Given the description of an element on the screen output the (x, y) to click on. 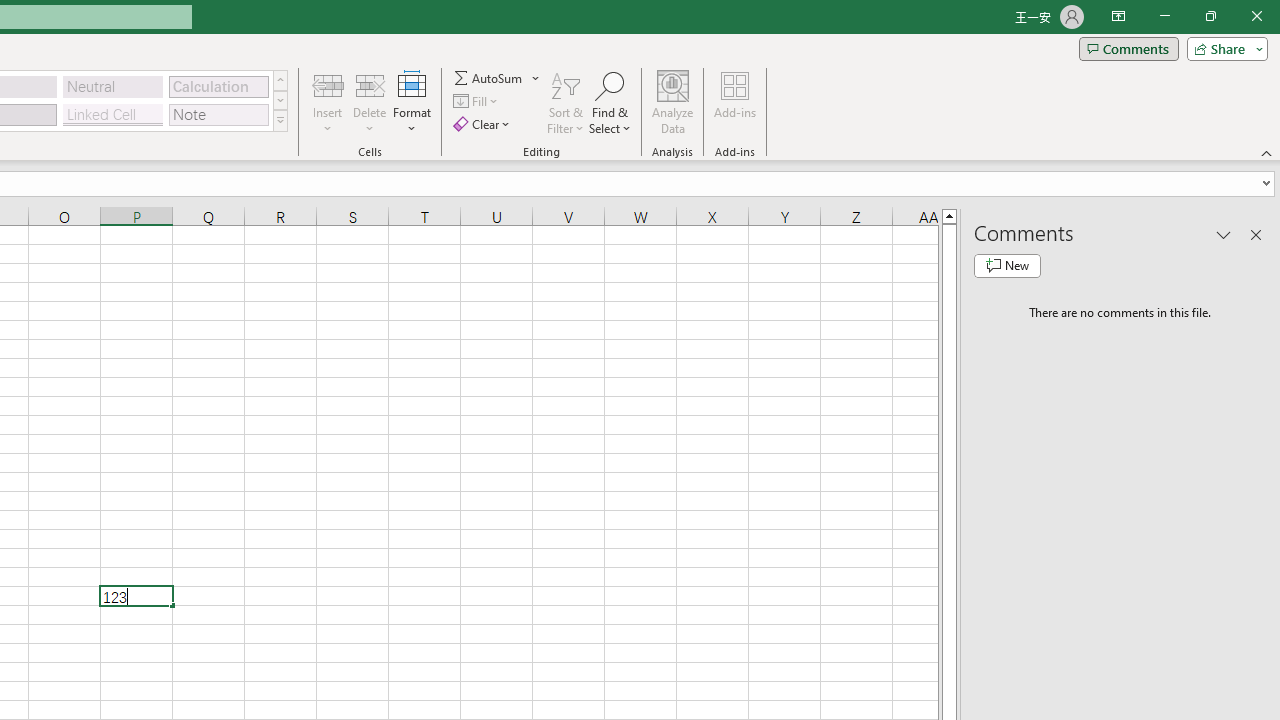
Task Pane Options (1224, 234)
Delete Cells... (369, 84)
Linked Cell (113, 114)
Share (1223, 48)
Format (411, 102)
Delete (369, 102)
Insert (328, 102)
New comment (1007, 265)
Insert Cells (328, 84)
Find & Select (610, 102)
Minimize (1164, 16)
Restore Down (1210, 16)
AutoSum (497, 78)
Close pane (1256, 234)
